Given the description of an element on the screen output the (x, y) to click on. 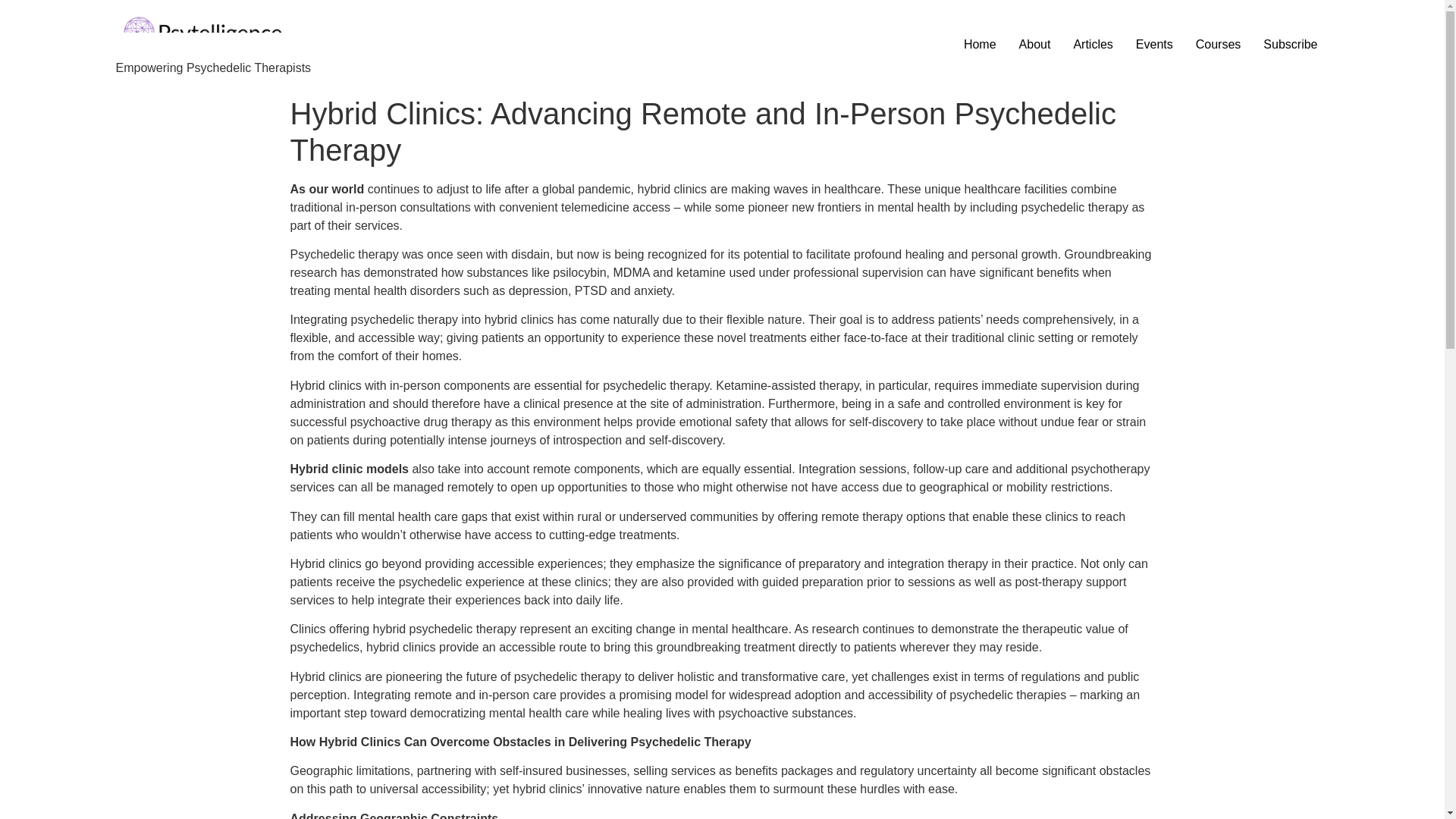
About (1034, 44)
Home (979, 44)
Events (1154, 44)
Subscribe (1289, 44)
Courses (1218, 44)
Articles (1092, 44)
